Given the description of an element on the screen output the (x, y) to click on. 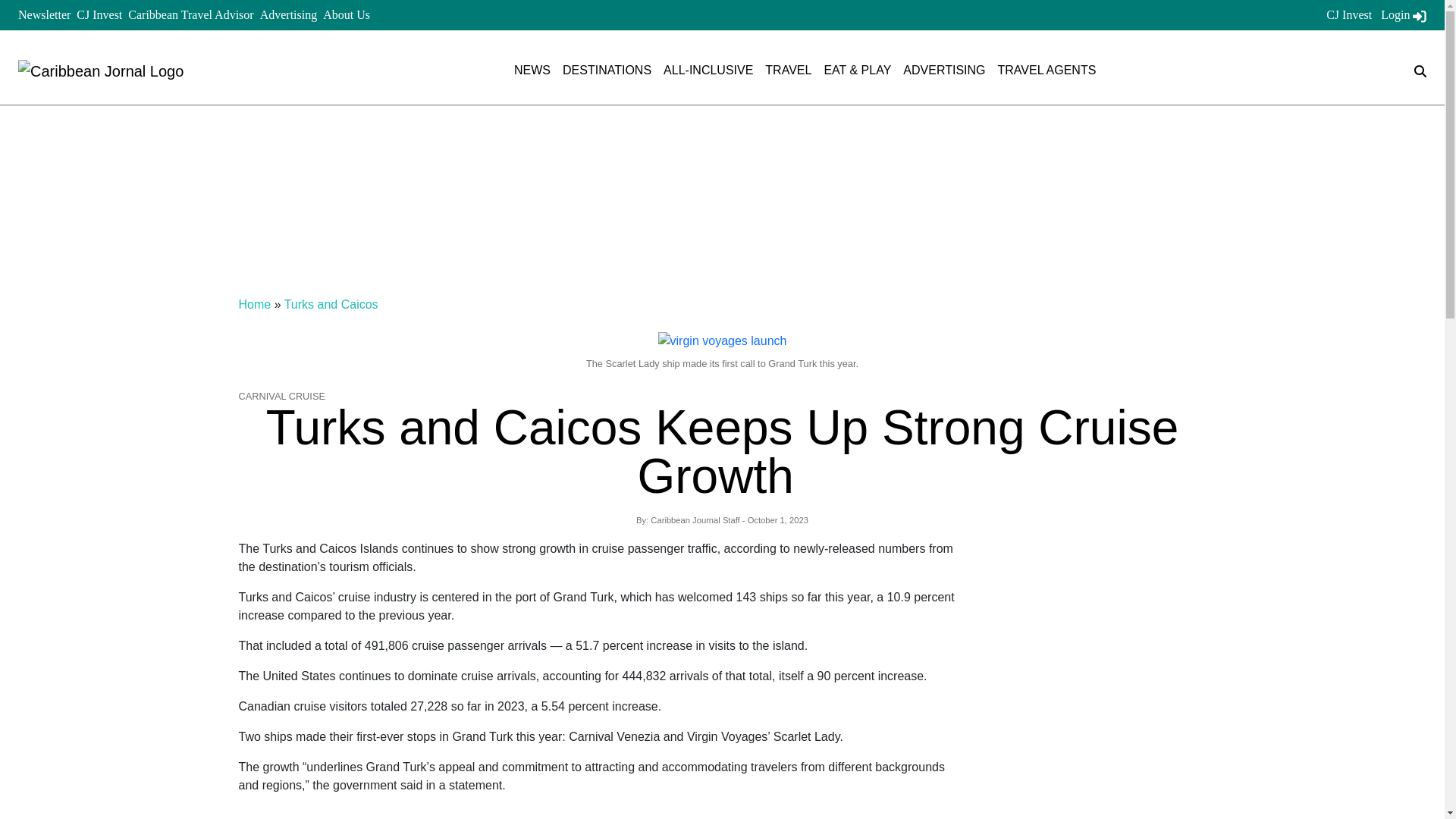
Caribbean Travel Advisor (190, 14)
Advertising (288, 14)
DESTINATIONS (606, 69)
About Us (346, 14)
Newsletter (43, 14)
CJ Invest (99, 14)
NEWS (531, 69)
TRAVEL (787, 69)
ADVERTISING (943, 69)
ALL-INCLUSIVE (707, 69)
